Given the description of an element on the screen output the (x, y) to click on. 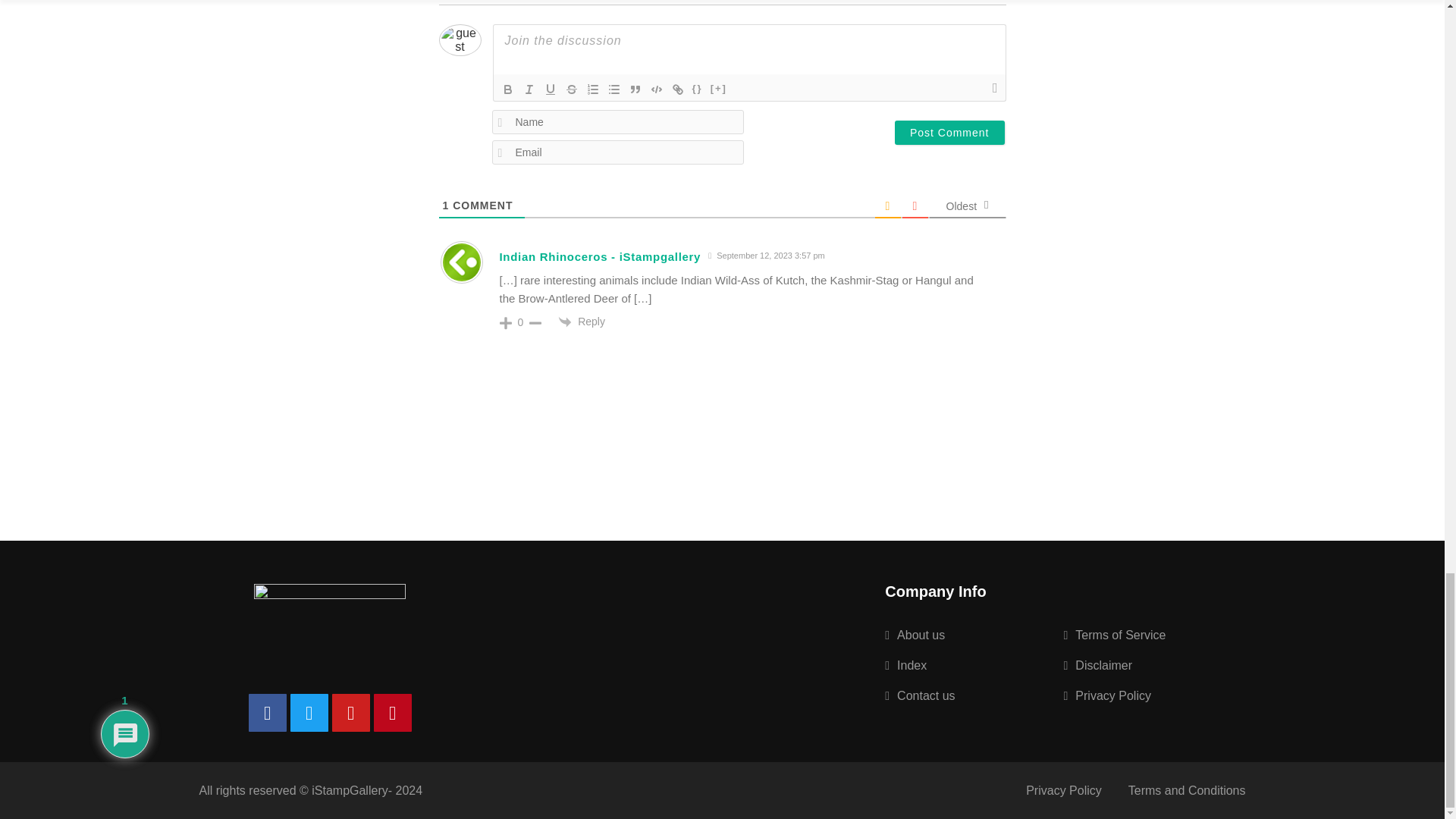
Unordered List (614, 89)
Italic (529, 89)
Bold (507, 89)
Link (677, 89)
Underline (550, 89)
Strike (571, 89)
Ordered List (593, 89)
Code Block (656, 89)
Post Comment (949, 132)
Source Code (697, 89)
Blockquote (635, 89)
